Given the description of an element on the screen output the (x, y) to click on. 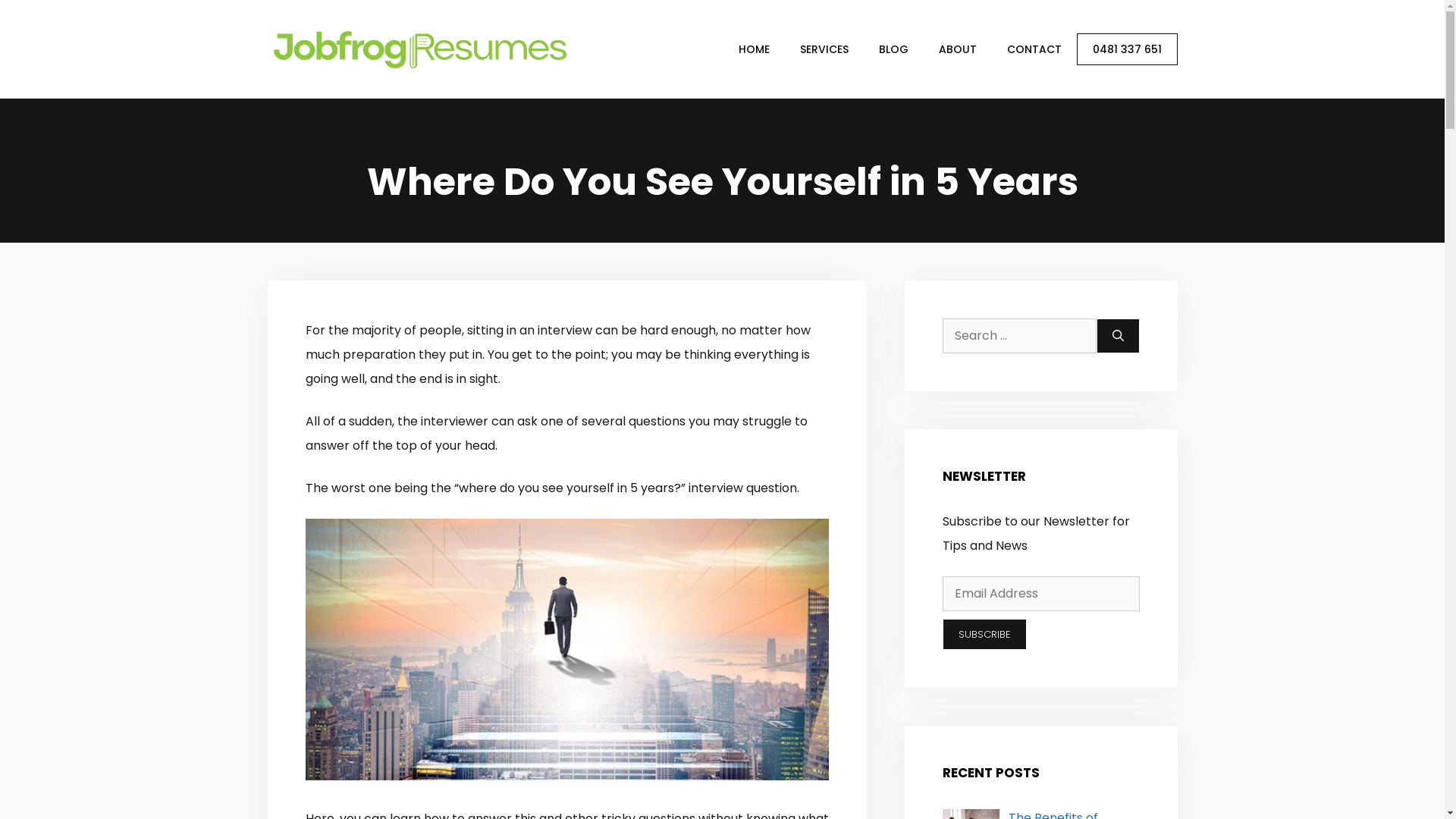
ABOUT Element type: text (957, 49)
CONTACT Element type: text (1033, 49)
BLOG Element type: text (892, 49)
SERVICES Element type: text (823, 49)
0481 337 651 Element type: text (1126, 49)
Subscribe Element type: text (983, 634)
HOME Element type: text (753, 49)
Search for: Element type: hover (1018, 335)
